Given the description of an element on the screen output the (x, y) to click on. 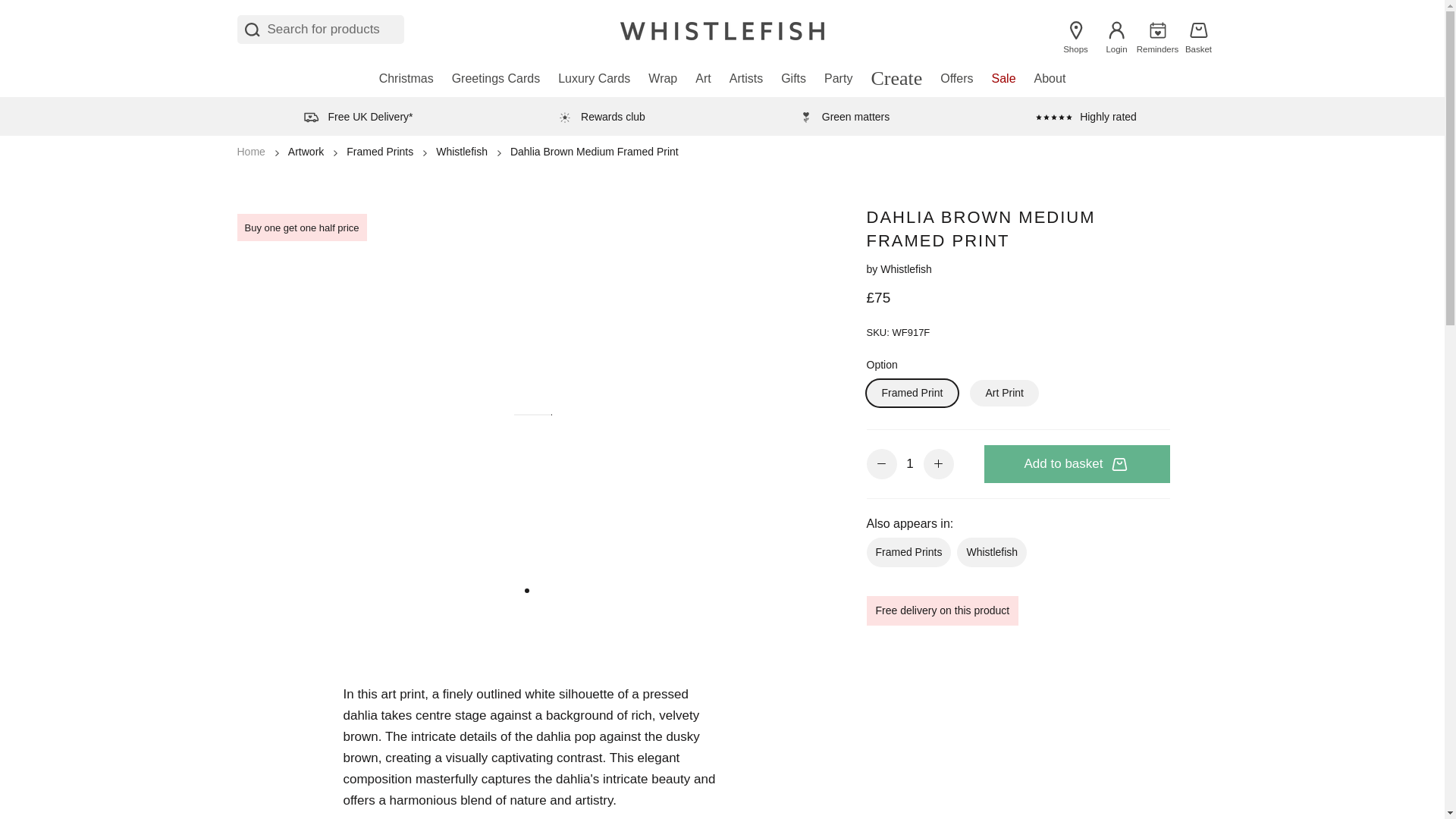
Green matters (843, 116)
Customer reviews (1086, 116)
1 (909, 463)
Delivery information (357, 116)
Delivery information (600, 116)
Whistlefish homepage (722, 29)
